Given the description of an element on the screen output the (x, y) to click on. 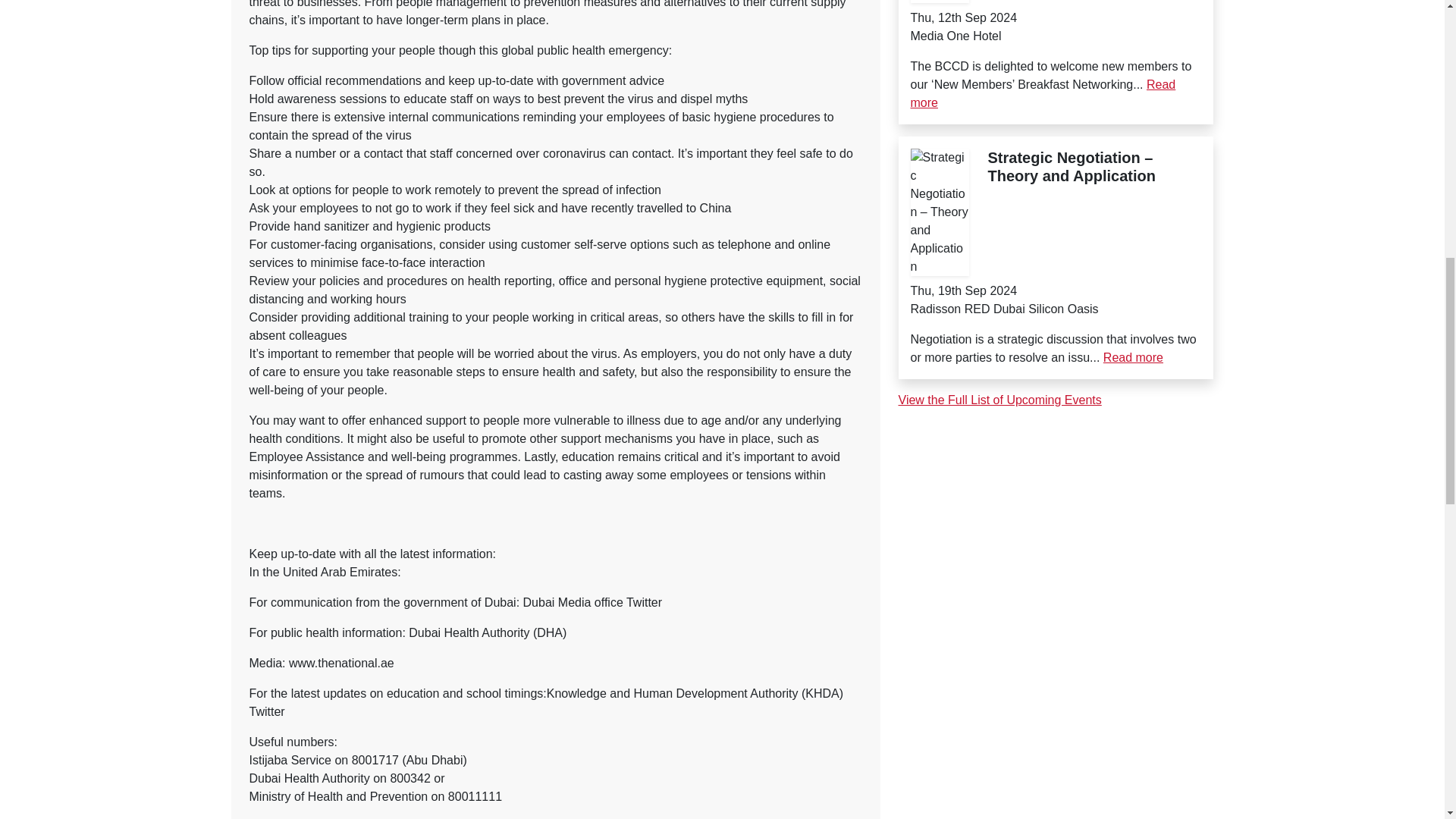
Read more (1133, 357)
Read more (1042, 92)
View the Full List of Upcoming Events (999, 399)
